Given the description of an element on the screen output the (x, y) to click on. 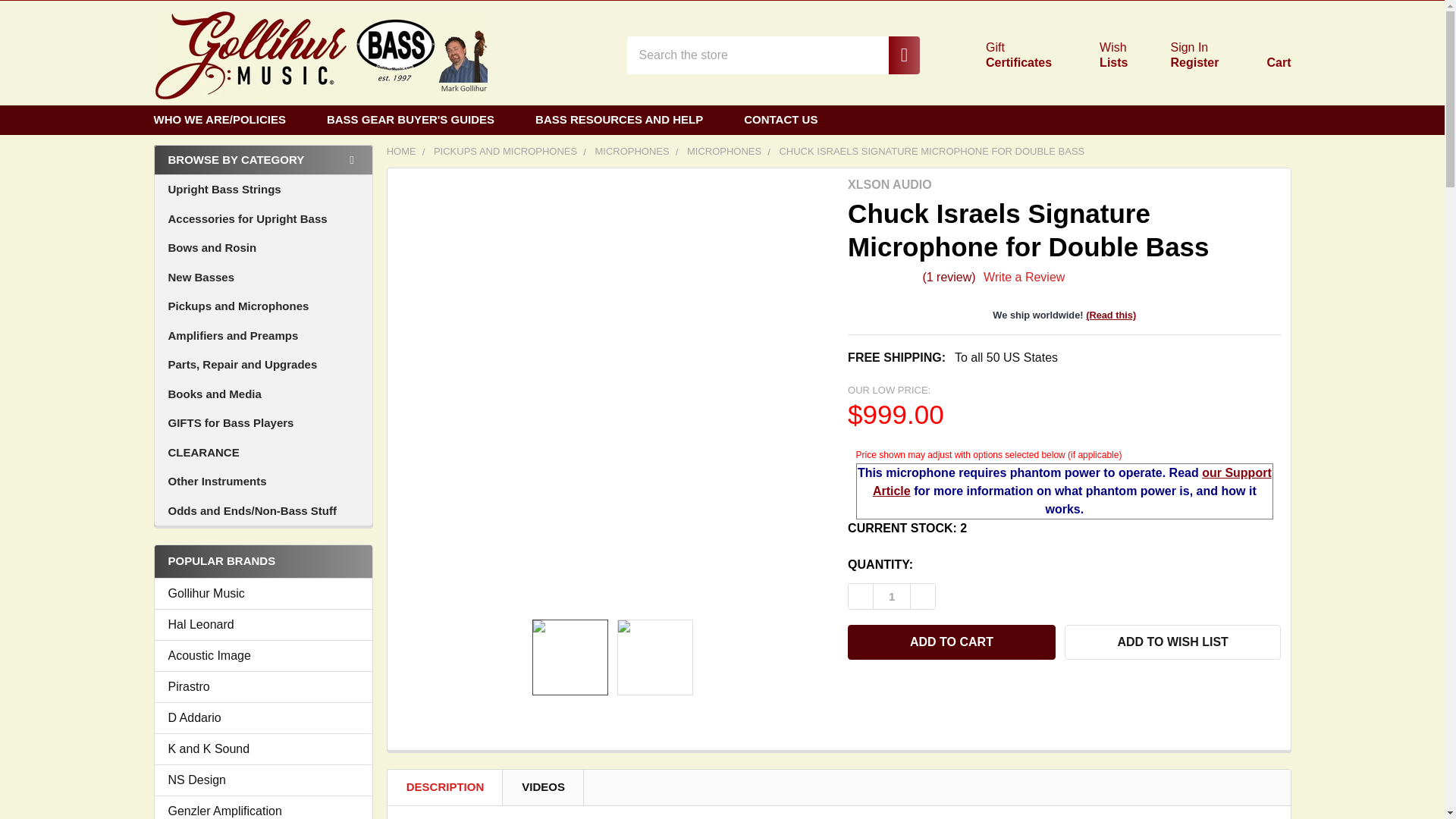
NS Design (263, 780)
1 (891, 596)
Acoustic Image (263, 656)
Wish Lists (1095, 55)
Sign In (1189, 47)
Gift Certificates (1000, 55)
Gollihur Music (1000, 55)
Search (319, 54)
